Given the description of an element on the screen output the (x, y) to click on. 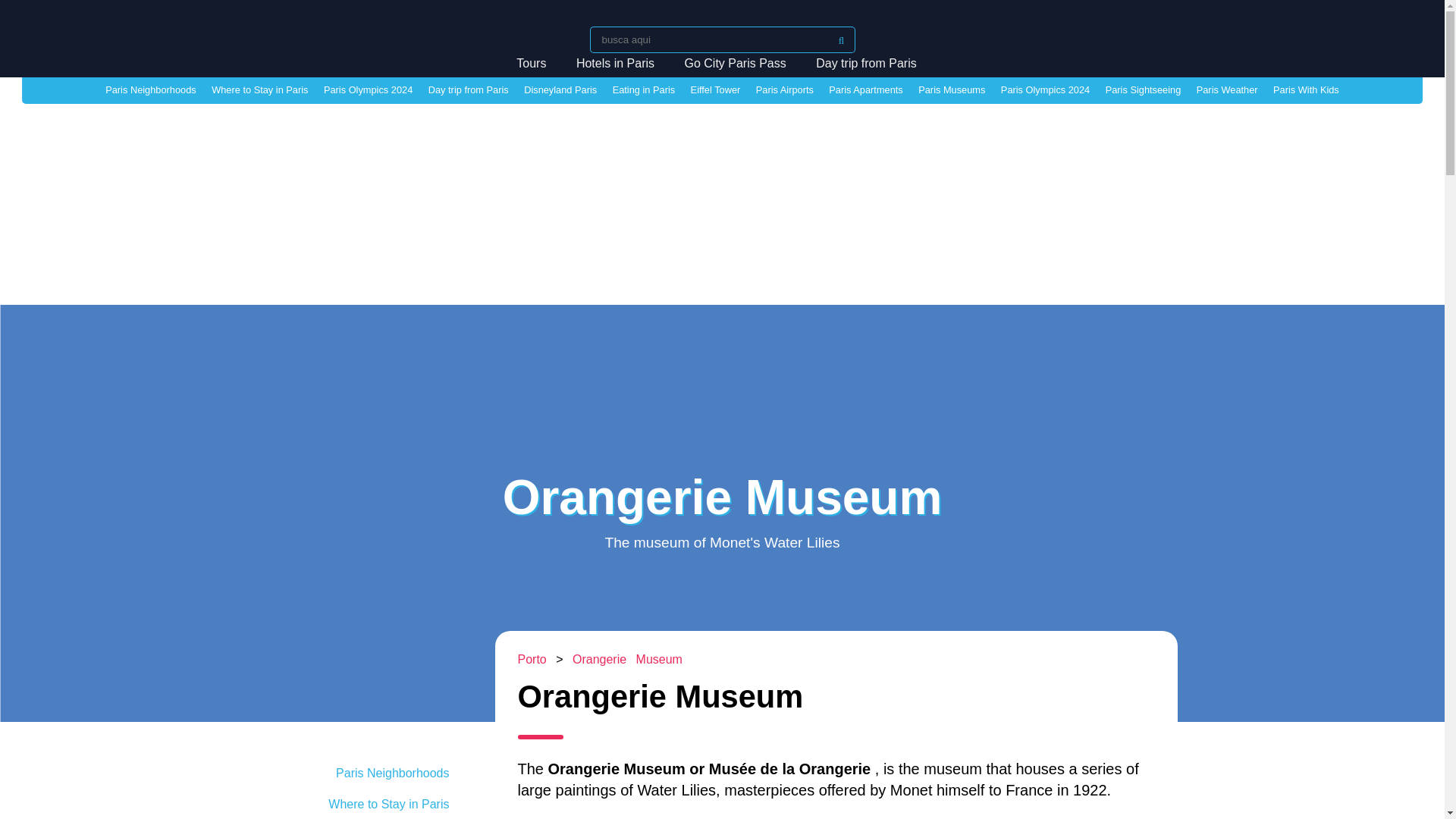
Day trip from Paris (468, 90)
Paris Sightseeing (1142, 90)
Paris Weather (1226, 90)
Tours (530, 62)
Paris Olympics 2024 (1045, 90)
Paris Apartments (865, 90)
Paris Airports (784, 90)
Hotels in Paris (615, 62)
Paris Neighborhoods (357, 773)
Eiffel Tower (715, 90)
Paris Apartments (865, 90)
Paris Neighborhoods (357, 773)
Paris With Kids (1305, 90)
Paris Olympics 2024 (367, 90)
Day trip from Paris (468, 90)
